Given the description of an element on the screen output the (x, y) to click on. 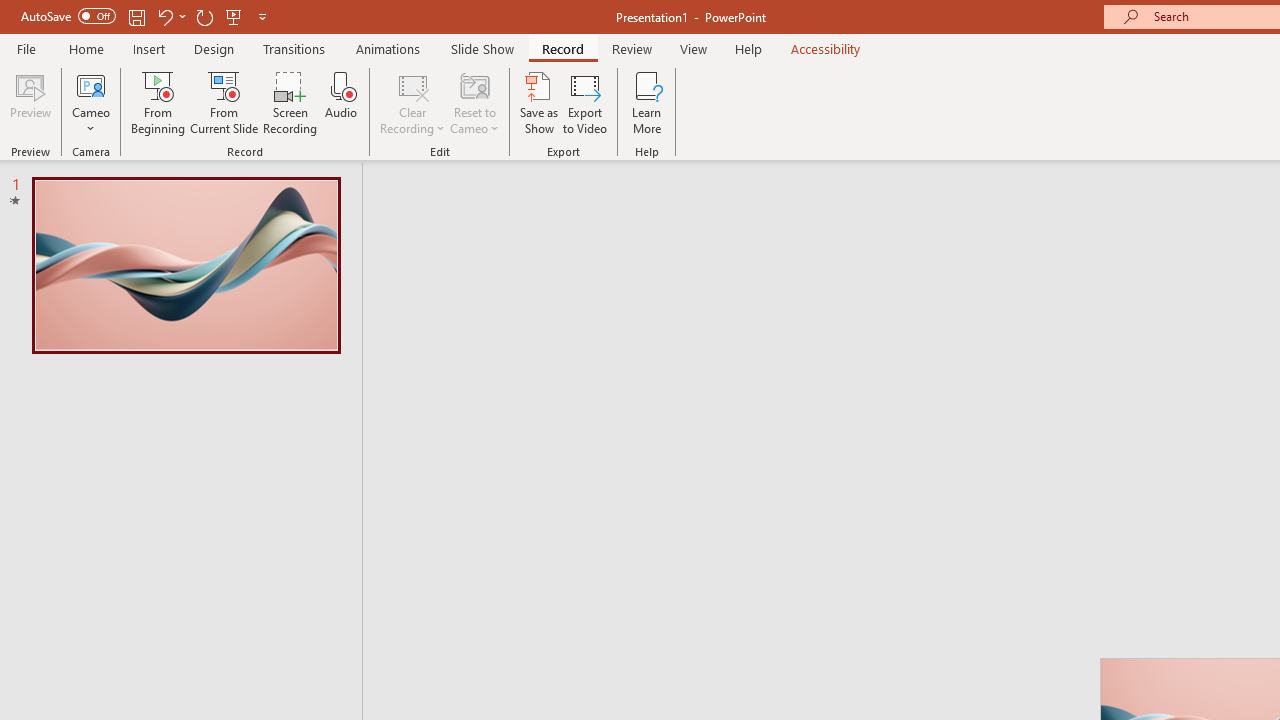
Export to Video (585, 102)
